Given the description of an element on the screen output the (x, y) to click on. 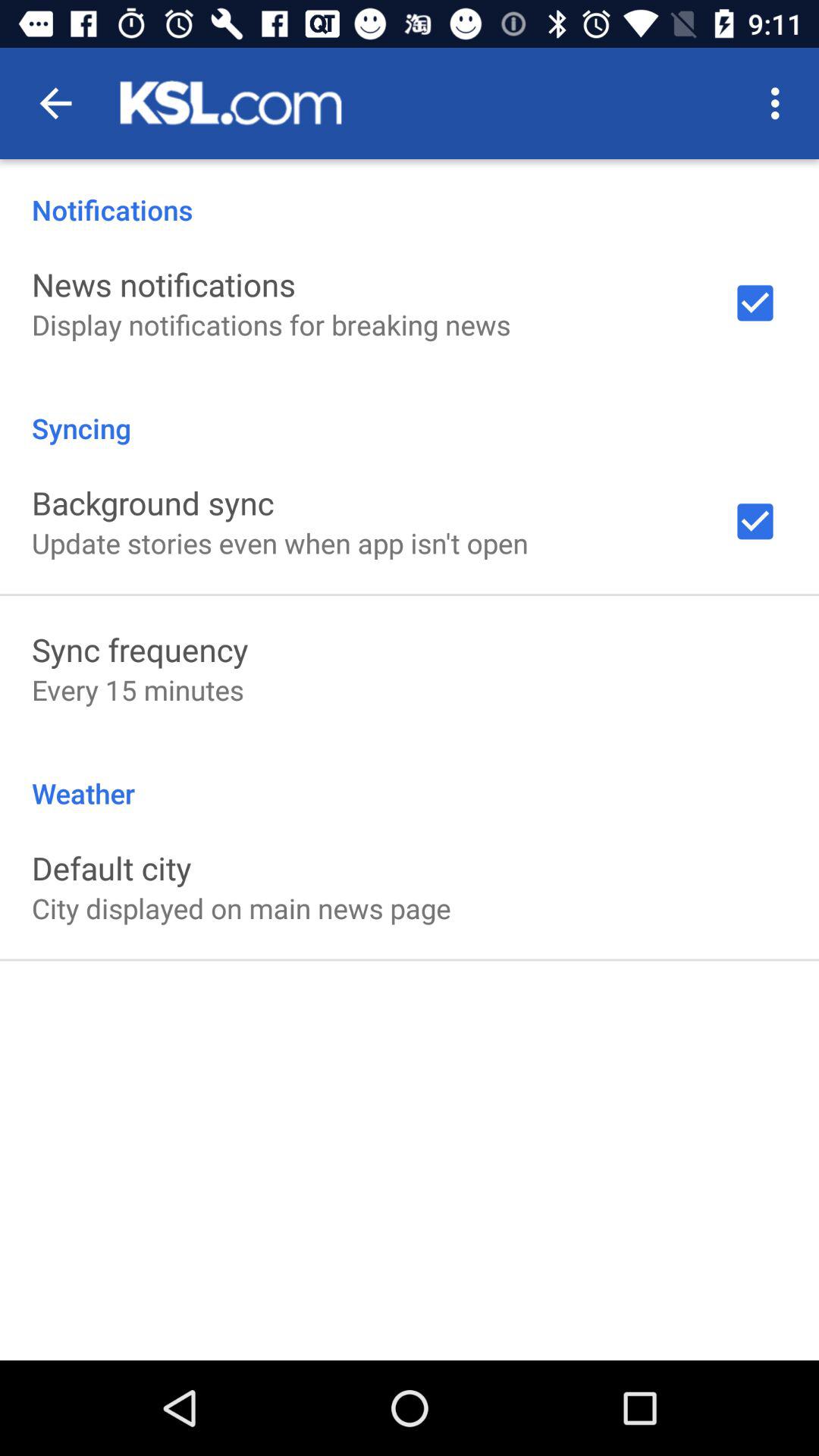
select the app below the weather item (111, 867)
